Given the description of an element on the screen output the (x, y) to click on. 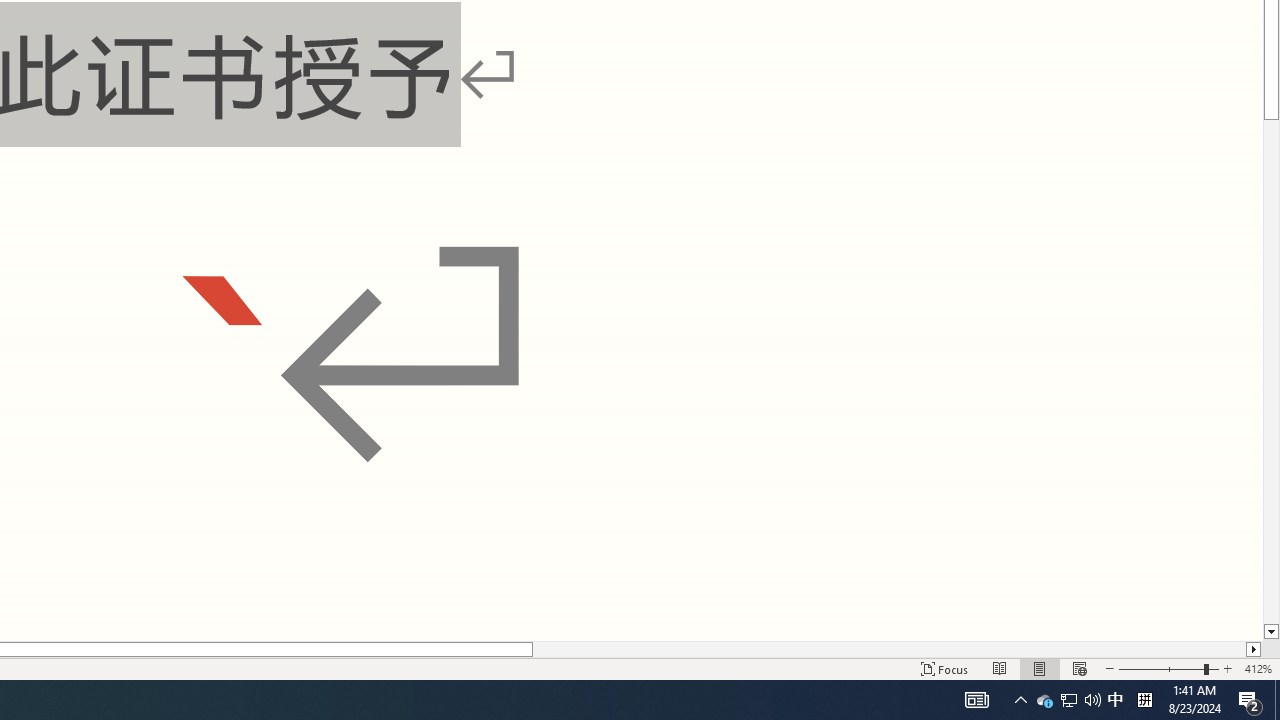
Page right (888, 649)
Web Layout (1079, 668)
Read Mode (1000, 668)
Focus  (944, 668)
Line down (1271, 632)
Column right (1254, 649)
Zoom In (1227, 668)
Zoom 412% (1258, 668)
Zoom Out (1161, 668)
Print Layout (1039, 668)
Zoom (1168, 668)
Page down (1271, 372)
